Given the description of an element on the screen output the (x, y) to click on. 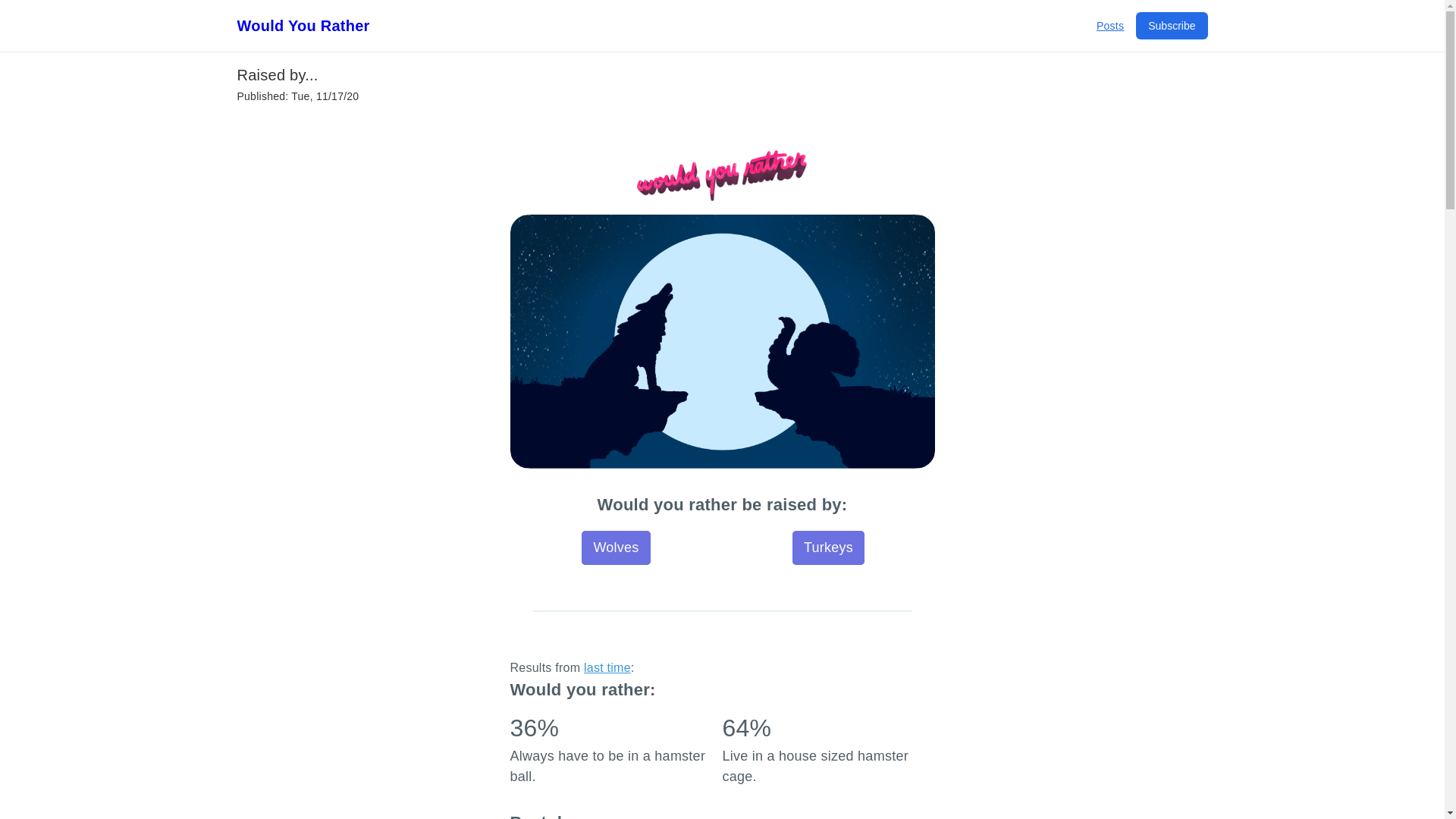
Would You Rather (302, 25)
Turkeys (828, 547)
Wolves (614, 547)
Posts (1110, 25)
Subscribe (1171, 25)
last time (606, 667)
Would You Rather (302, 25)
